Given the description of an element on the screen output the (x, y) to click on. 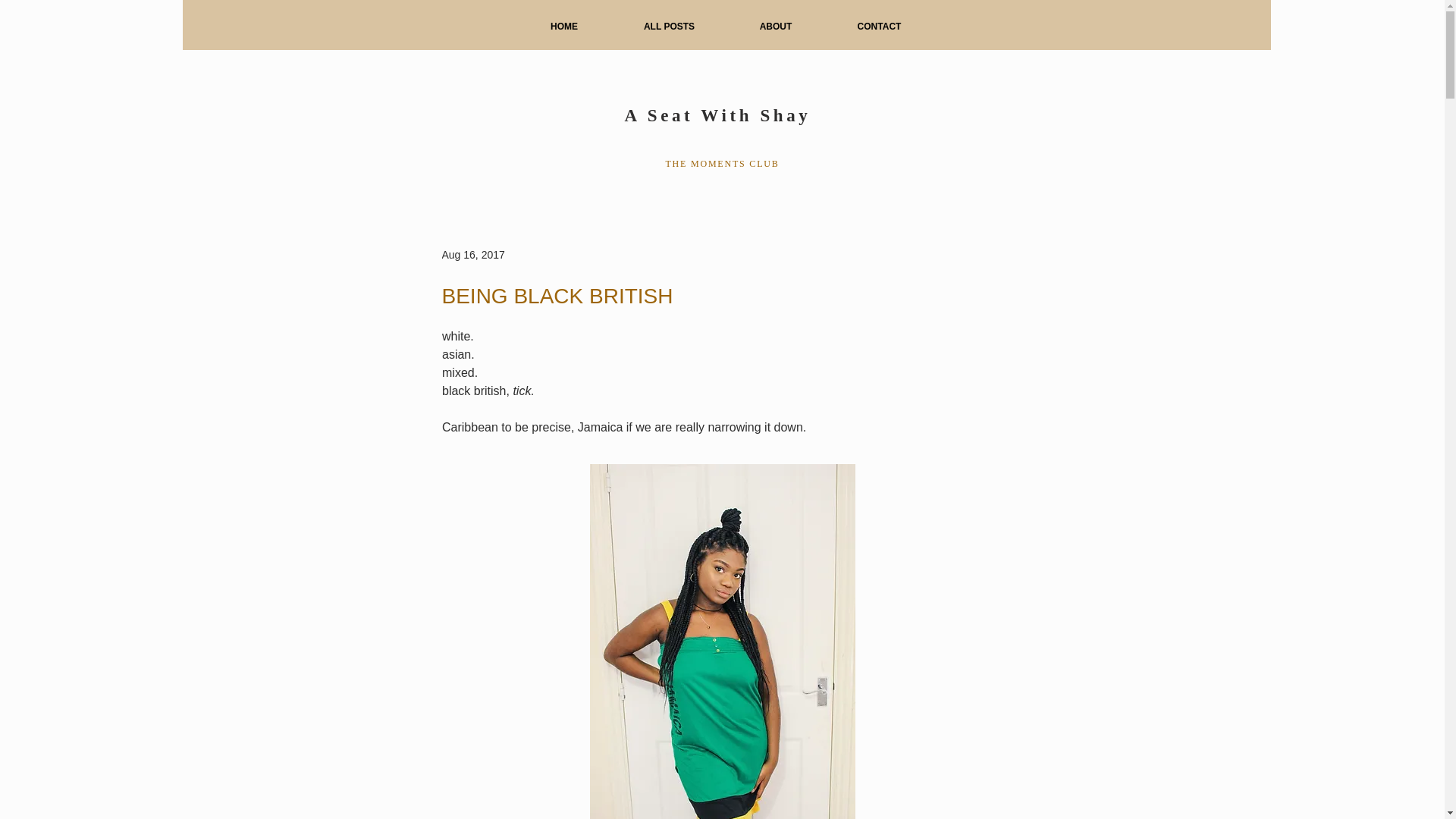
HOME (563, 26)
CONTACT (879, 26)
A Seat With Shay (717, 115)
ABOUT (775, 26)
ALL POSTS (668, 26)
Aug 16, 2017 (472, 254)
